Given the description of an element on the screen output the (x, y) to click on. 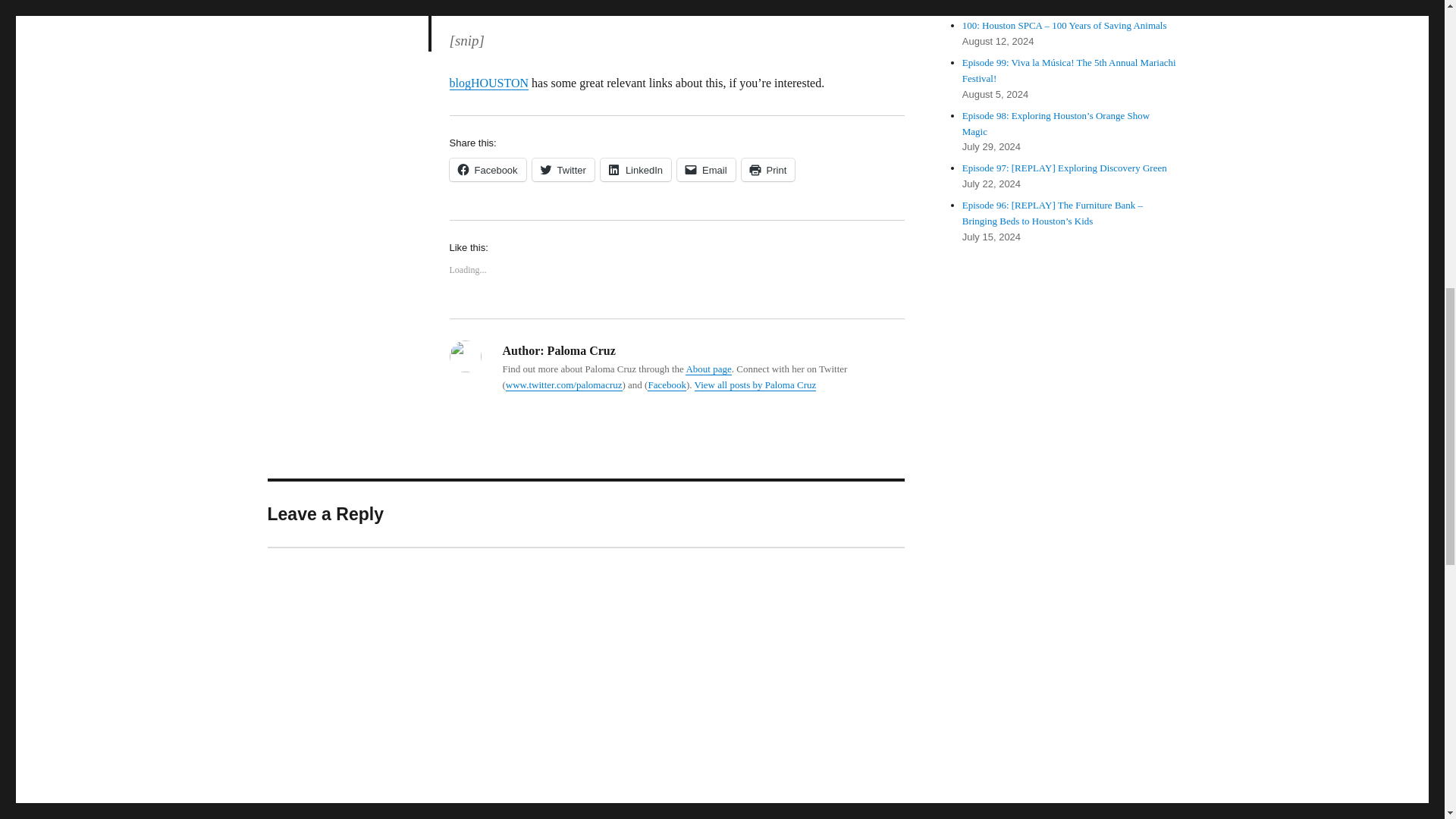
Facebook (486, 169)
About page (707, 368)
Click to email a link to a friend (706, 169)
Email (706, 169)
Click to share on Facebook (486, 169)
Print (767, 169)
Click to share on LinkedIn (635, 169)
Click to print (767, 169)
View all posts by Paloma Cruz (755, 384)
